Given the description of an element on the screen output the (x, y) to click on. 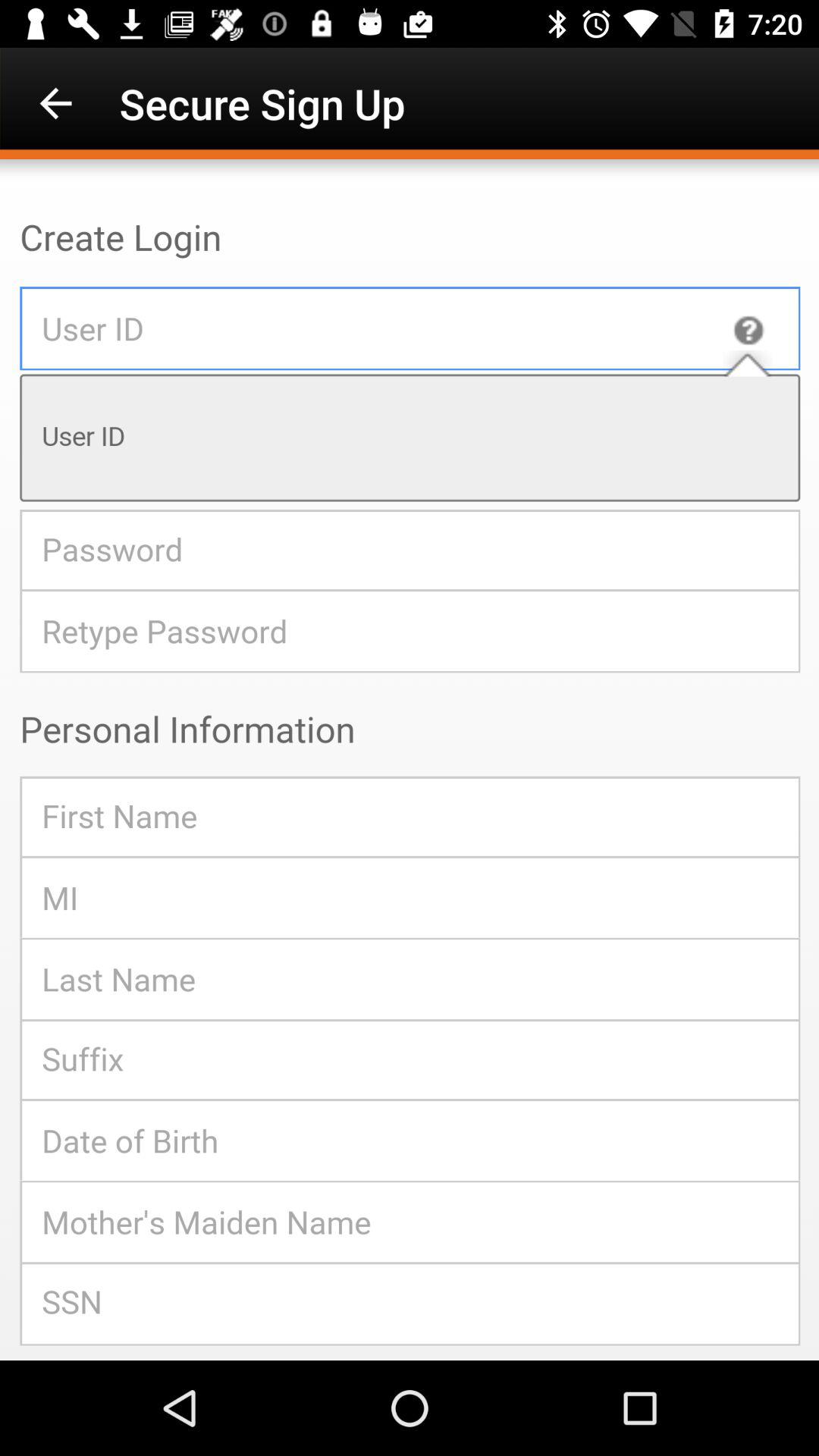
sign up page (409, 759)
